Given the description of an element on the screen output the (x, y) to click on. 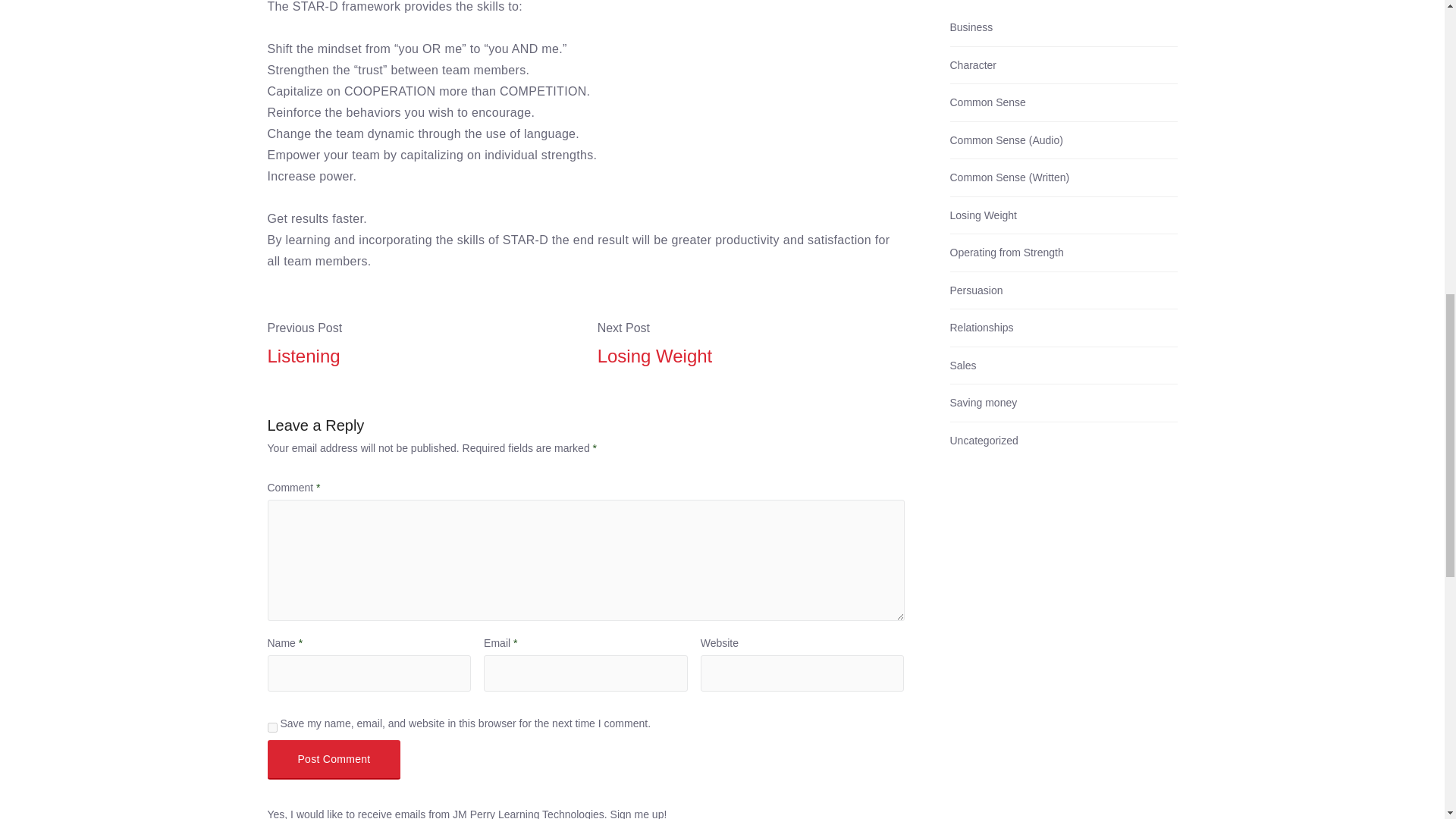
Listening (419, 356)
Post Comment (333, 759)
Post Comment (333, 759)
yes (271, 727)
Losing Weight (750, 356)
